Given the description of an element on the screen output the (x, y) to click on. 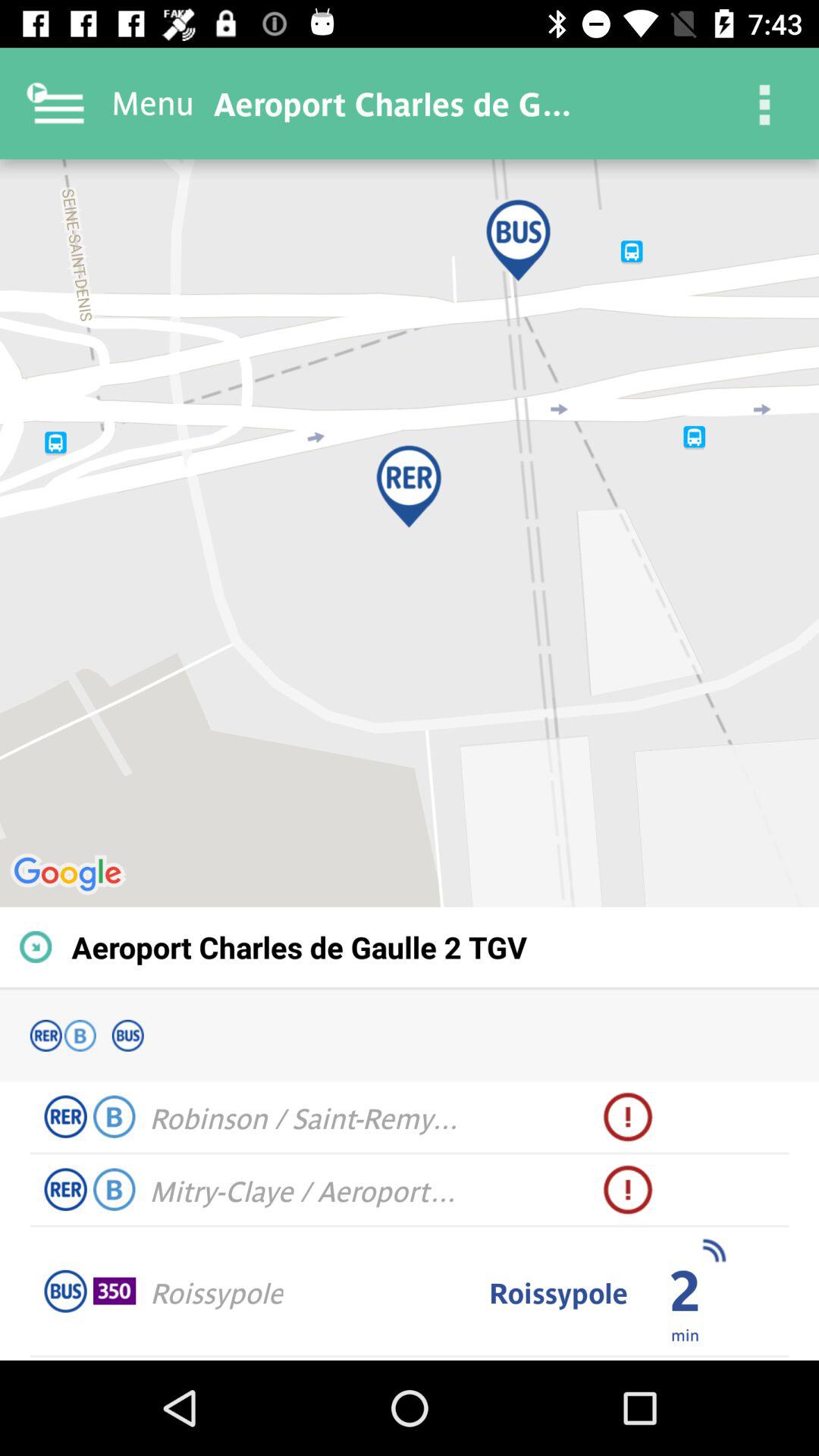
turn on item to the left of roissypole item (114, 1290)
